Given the description of an element on the screen output the (x, y) to click on. 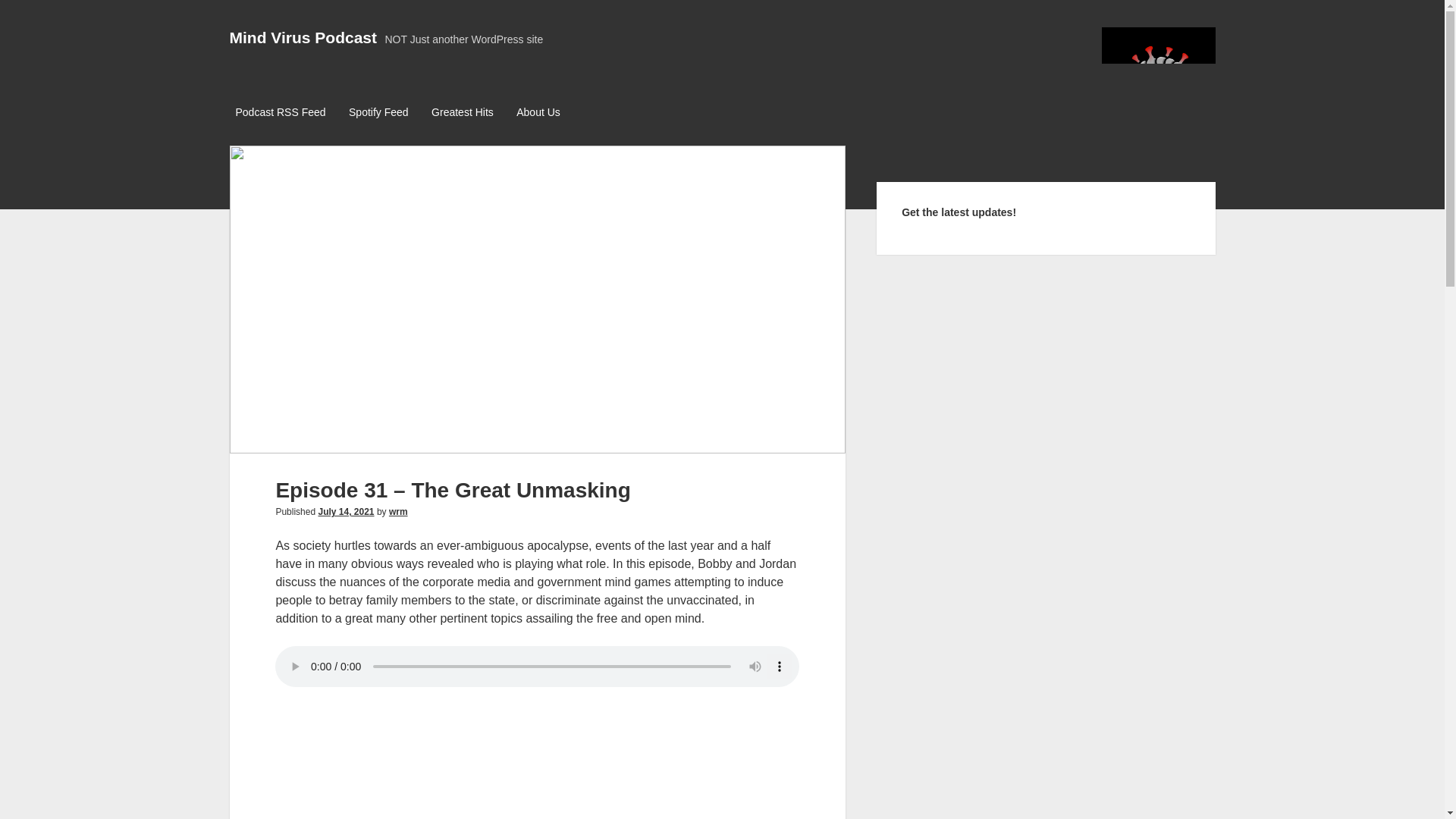
Podcast RSS Feed (279, 112)
Spotify Feed (378, 112)
Mind Virus Podcast (302, 36)
Greatest Hits (462, 112)
wrm (397, 511)
About Us (538, 112)
July 14, 2021 (345, 511)
